Given the description of an element on the screen output the (x, y) to click on. 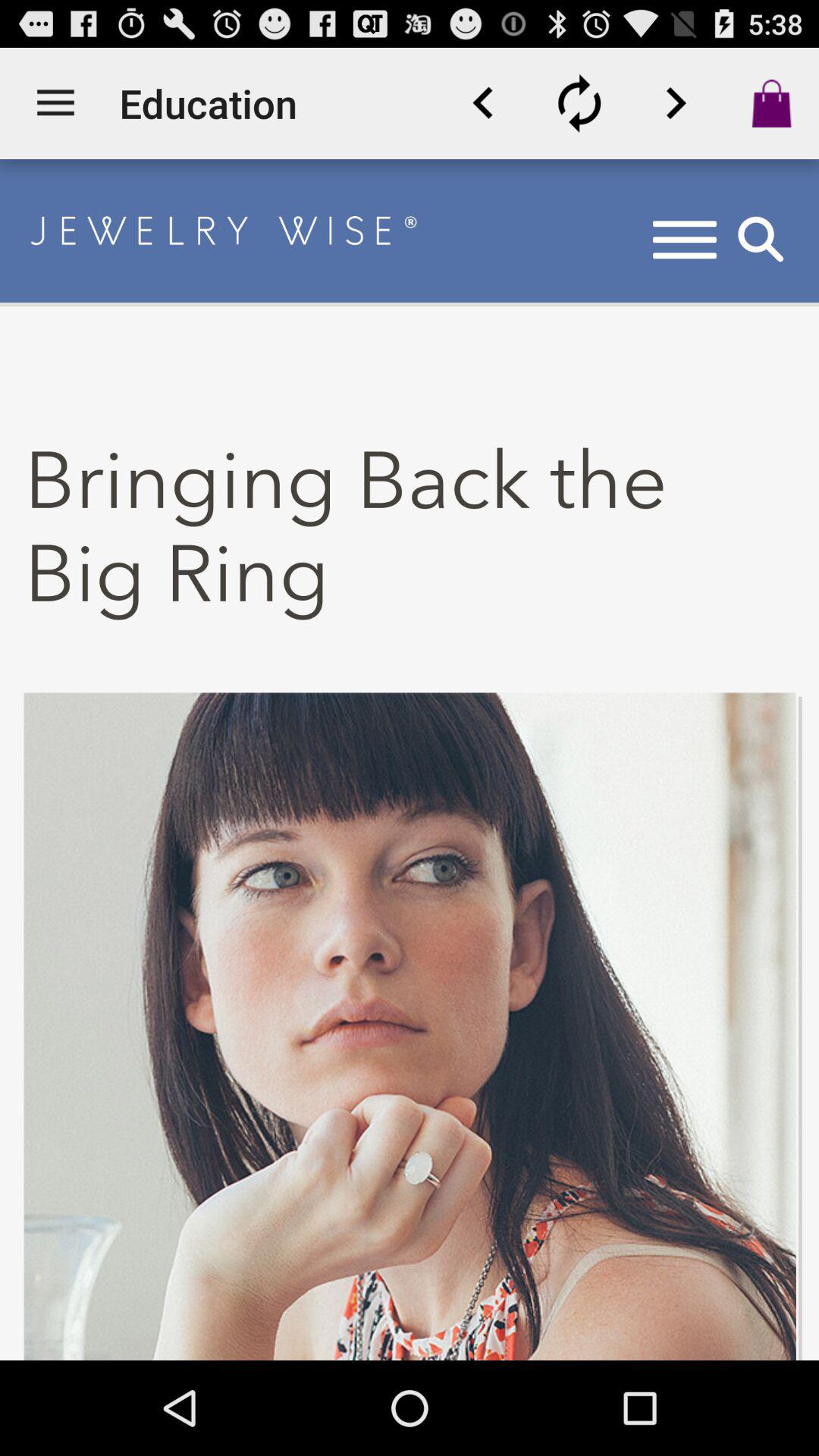
go to next page (675, 103)
